Given the description of an element on the screen output the (x, y) to click on. 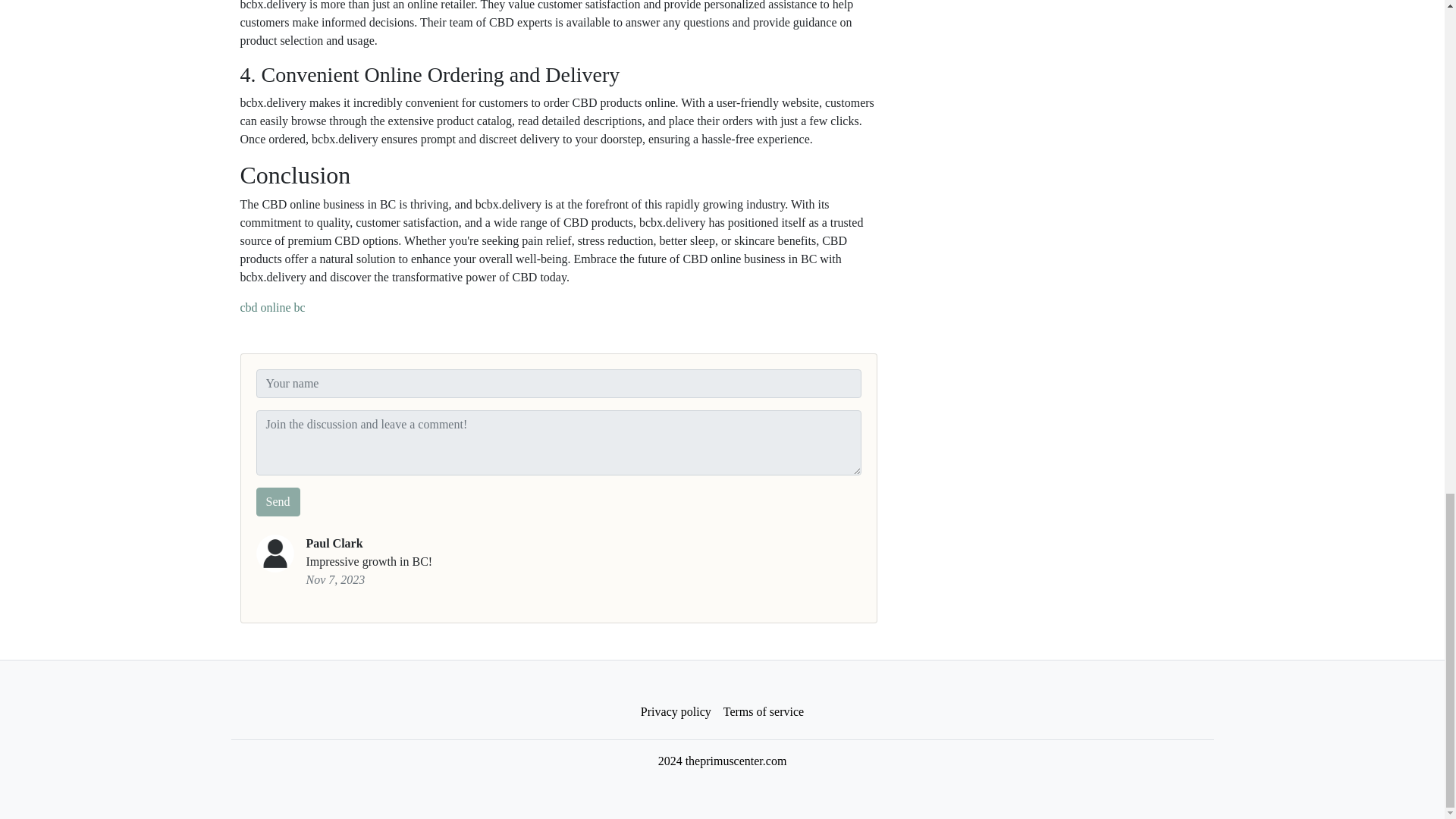
cbd online bc (272, 307)
Send (277, 501)
Privacy policy (675, 711)
Send (277, 501)
Terms of service (763, 711)
